Given the description of an element on the screen output the (x, y) to click on. 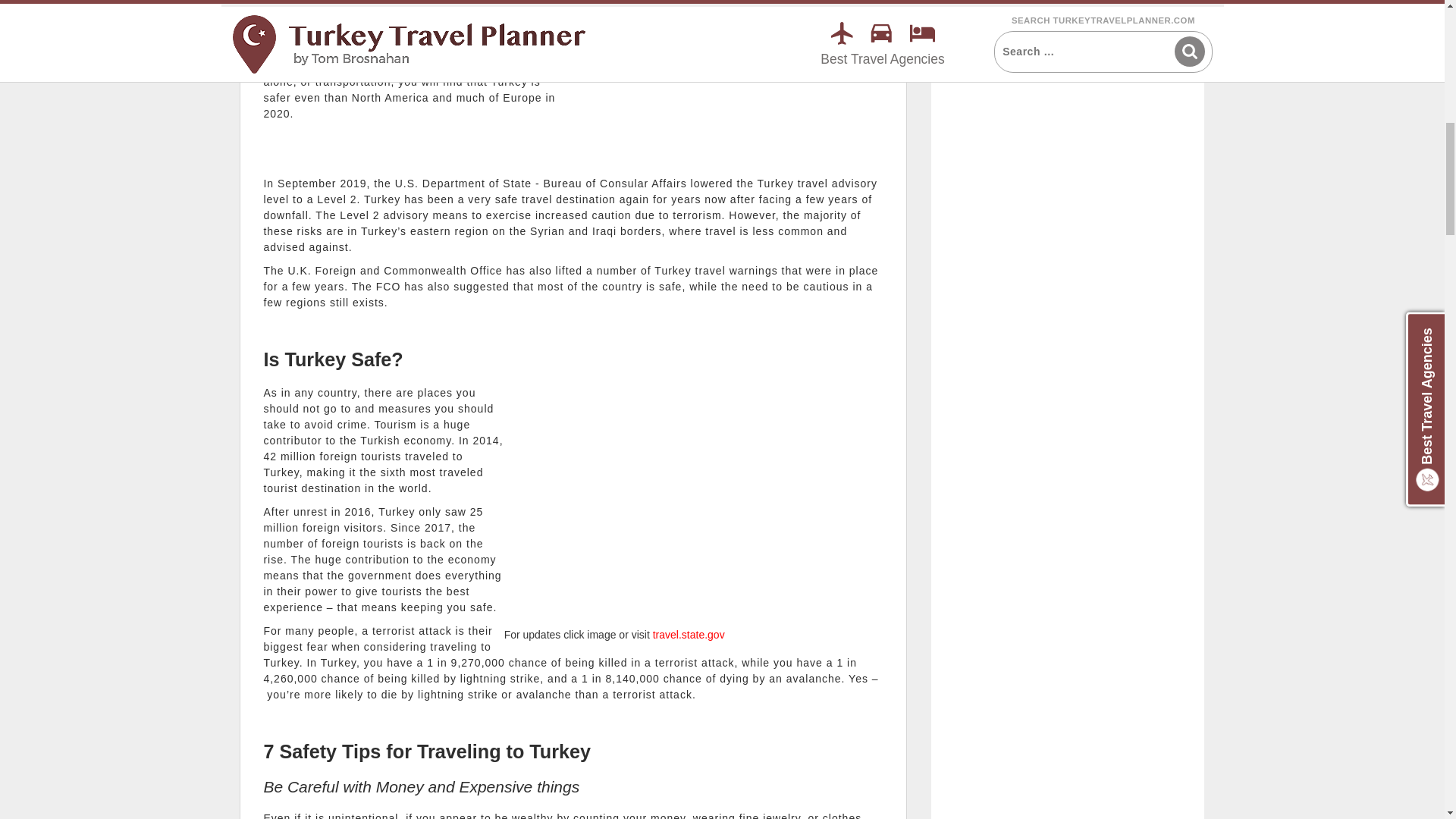
Is it Safe to Travel to Turkey in 2022? (734, 41)
